Given the description of an element on the screen output the (x, y) to click on. 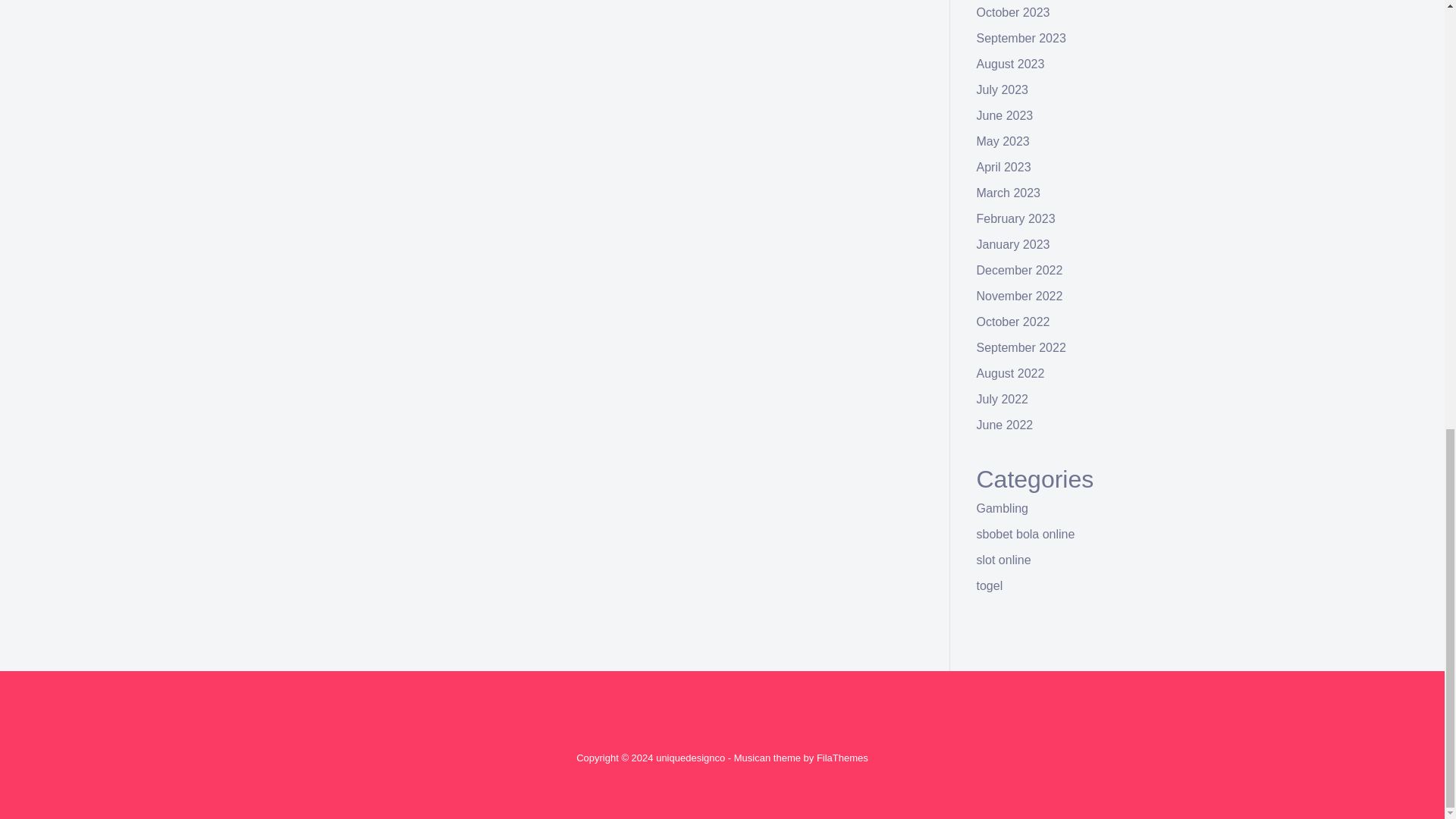
August 2022 (1010, 373)
April 2023 (1003, 166)
March 2023 (1008, 192)
June 2023 (1004, 115)
December 2022 (1019, 269)
July 2023 (1002, 89)
uniquedesignco (690, 757)
September 2022 (1020, 347)
September 2023 (1020, 38)
October 2022 (1012, 321)
February 2023 (1015, 218)
October 2023 (1012, 11)
November 2022 (1019, 295)
January 2023 (1012, 244)
July 2022 (1002, 399)
